Given the description of an element on the screen output the (x, y) to click on. 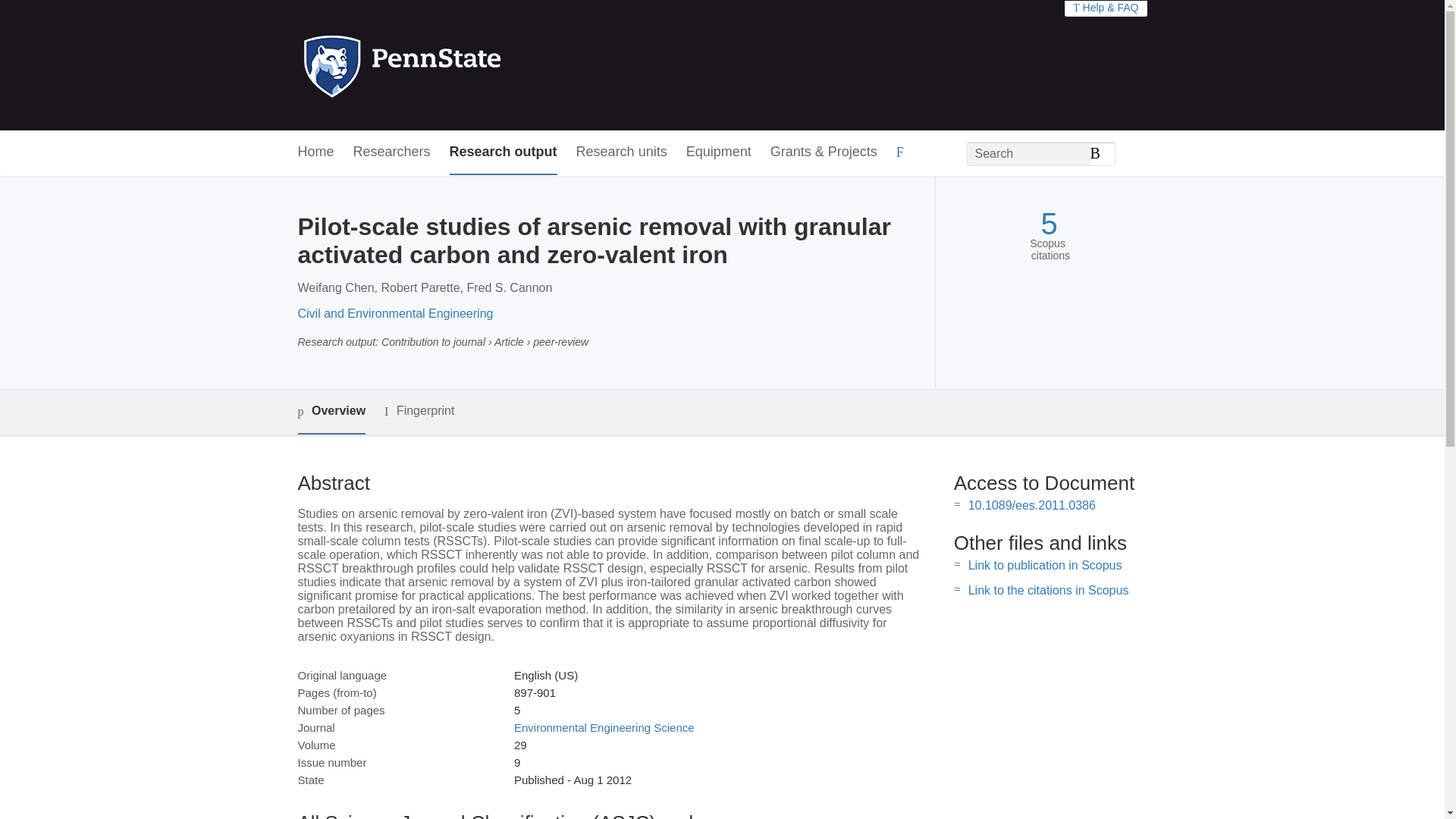
Research units (621, 152)
Link to the citations in Scopus (1048, 590)
Research output (503, 152)
Environmental Engineering Science (603, 727)
Penn State Home (467, 65)
Overview (331, 411)
Civil and Environmental Engineering (395, 313)
Equipment (718, 152)
Link to publication in Scopus (1045, 564)
